Given the description of an element on the screen output the (x, y) to click on. 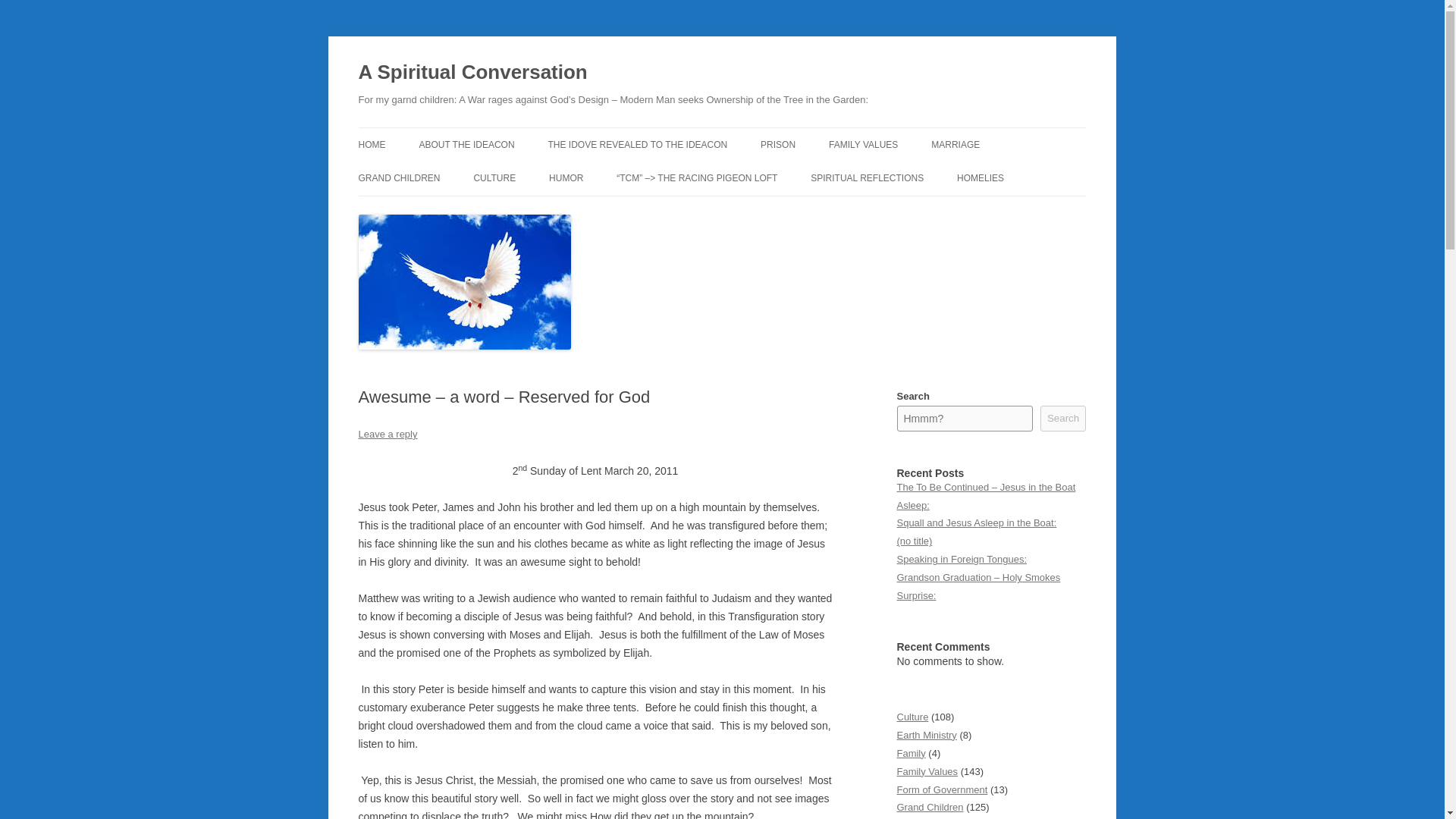
CULTURE (494, 177)
Family Values (927, 771)
FAMILY VALUES (863, 144)
ABOUT THE IDEACON (466, 144)
Search (1063, 418)
Culture (912, 716)
Grand Children (929, 807)
Squall and Jesus Asleep in the Boat: (976, 522)
Speaking in Foreign Tongues: (961, 559)
Family (910, 753)
HUMOR (565, 177)
SPIRITUAL REFLECTIONS (866, 177)
Form of Government (941, 789)
PRISON (777, 144)
A Spiritual Conversation (472, 72)
